Given the description of an element on the screen output the (x, y) to click on. 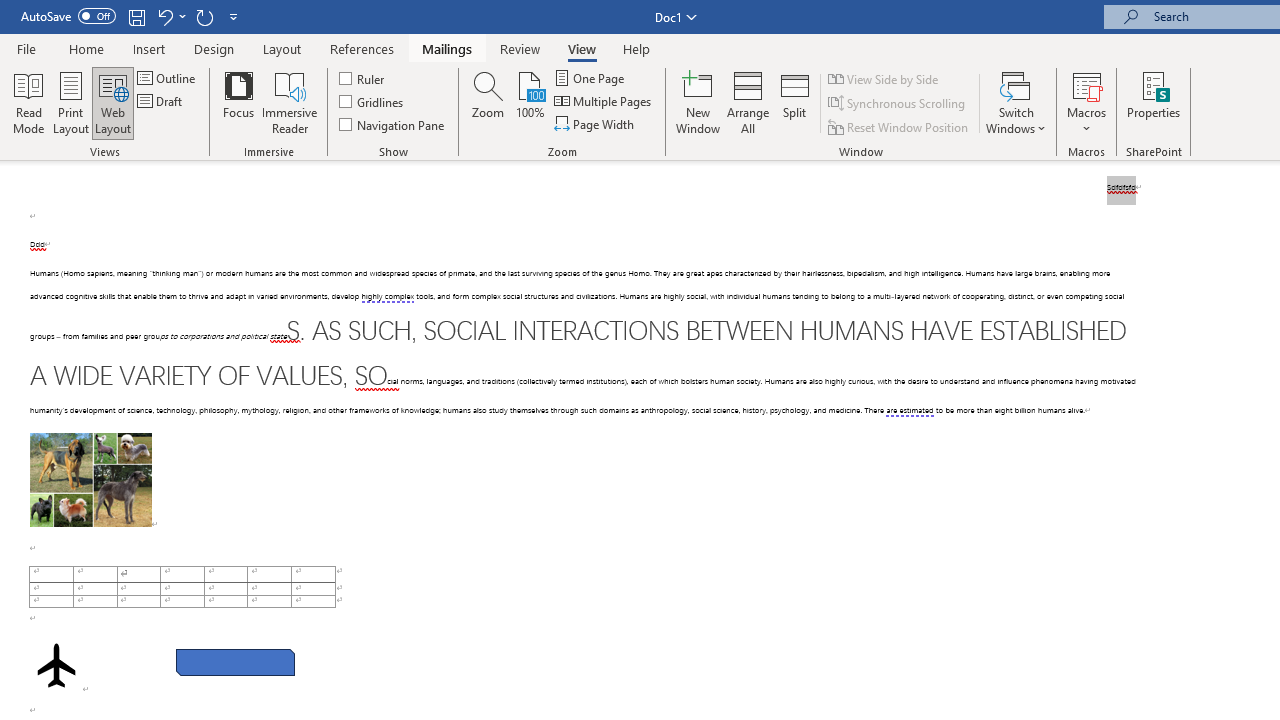
Morphological variation in six dogs (90, 479)
One Page (590, 78)
Focus (238, 102)
Properties (1153, 102)
Arrange All (747, 102)
Gridlines (372, 101)
Ruler (362, 78)
